Given the description of an element on the screen output the (x, y) to click on. 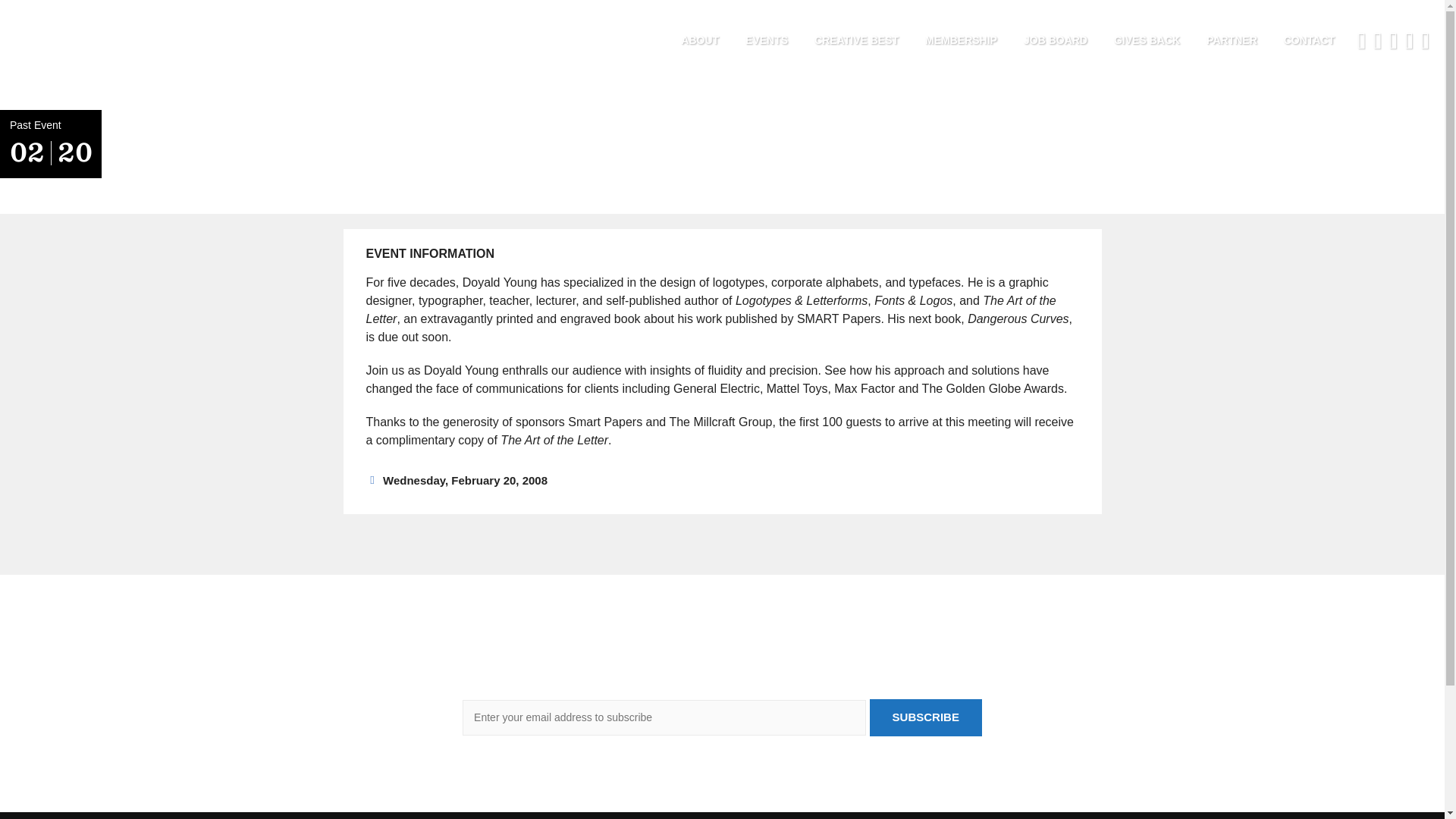
CREATIVE BEST (856, 40)
SUBSCRIBE (925, 717)
PARTNER (1231, 40)
JOB BOARD (1055, 40)
GIVES BACK (1146, 40)
MEMBERSHIP (961, 40)
ABOUT (699, 40)
EVENTS (766, 40)
Back to Events (172, 124)
CONTACT (1308, 40)
